Given the description of an element on the screen output the (x, y) to click on. 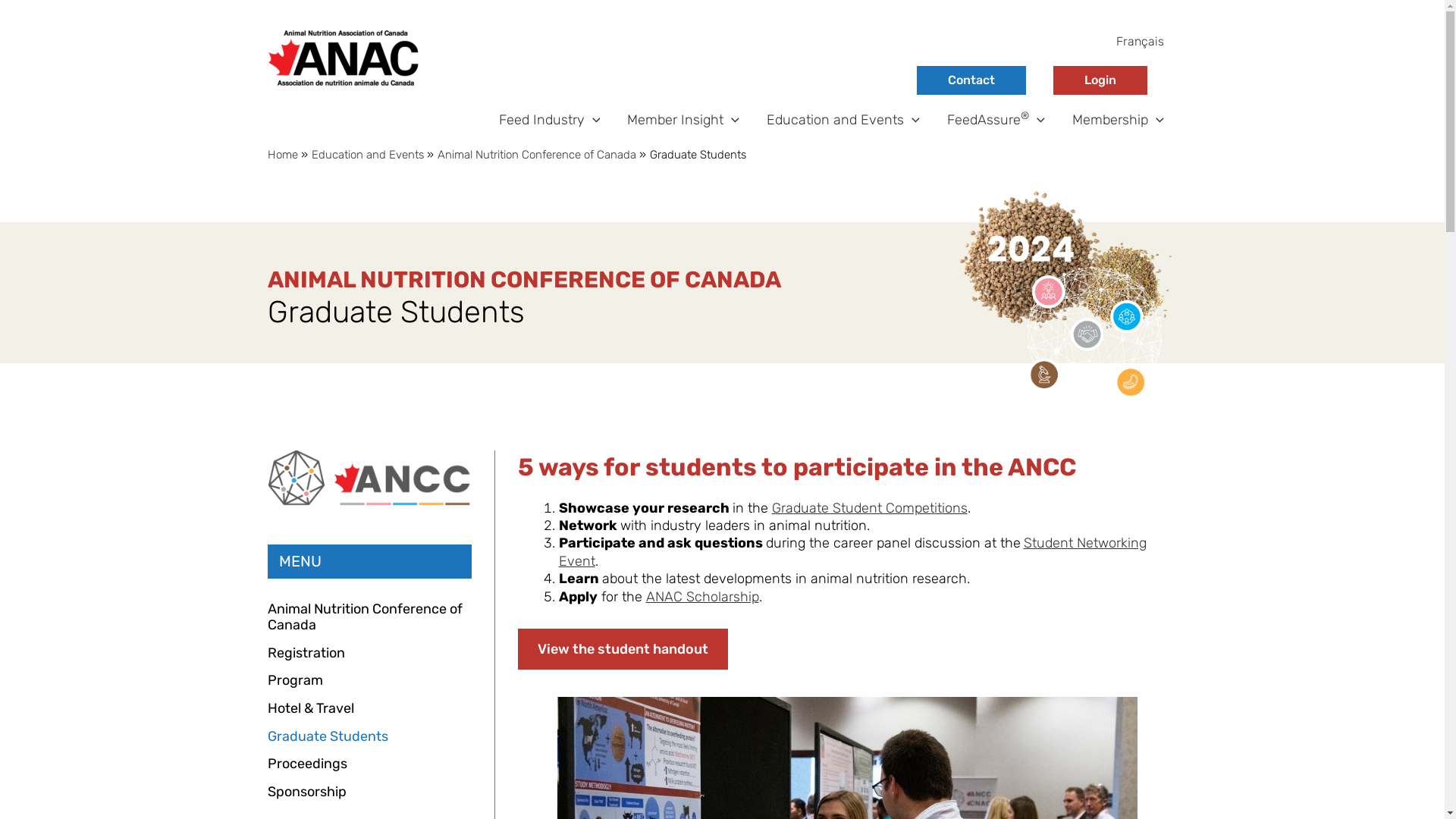
Sponsorship Element type: text (305, 791)
Program Element type: text (294, 679)
Proceedings Element type: text (306, 763)
Login Element type: text (1099, 79)
View the student handout Element type: text (622, 648)
Education and Events Element type: text (366, 154)
Student Networking Event Element type: text (851, 551)
Hotel & Travel Element type: text (309, 707)
ANAC Scholarship Element type: text (702, 596)
Member Insight Element type: text (683, 119)
Membership Element type: text (1117, 119)
Graduate Students Element type: text (326, 736)
Feed Industry Element type: text (549, 119)
Animal Nutrition Conference of Canada Element type: text (535, 154)
Graduate Student Competitions Element type: text (869, 507)
Home Element type: text (281, 154)
Contact Element type: text (970, 79)
Registration Element type: text (305, 652)
Animal Nutrition Conference of Canada Element type: text (368, 617)
Education and Events Element type: text (843, 119)
